Given the description of an element on the screen output the (x, y) to click on. 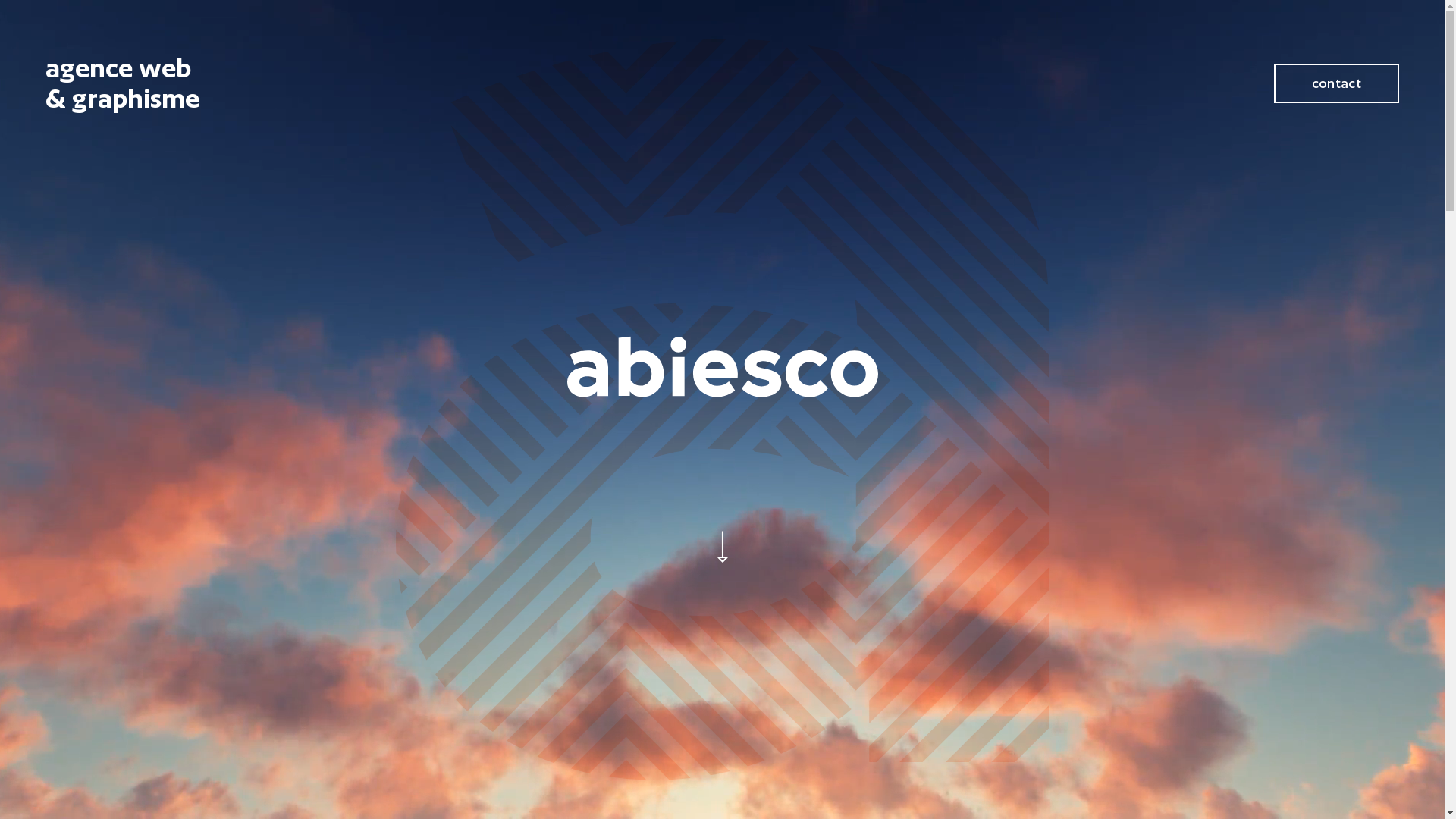
contact Element type: text (1336, 83)
agence web
& graphisme Element type: text (380, 83)
